Given the description of an element on the screen output the (x, y) to click on. 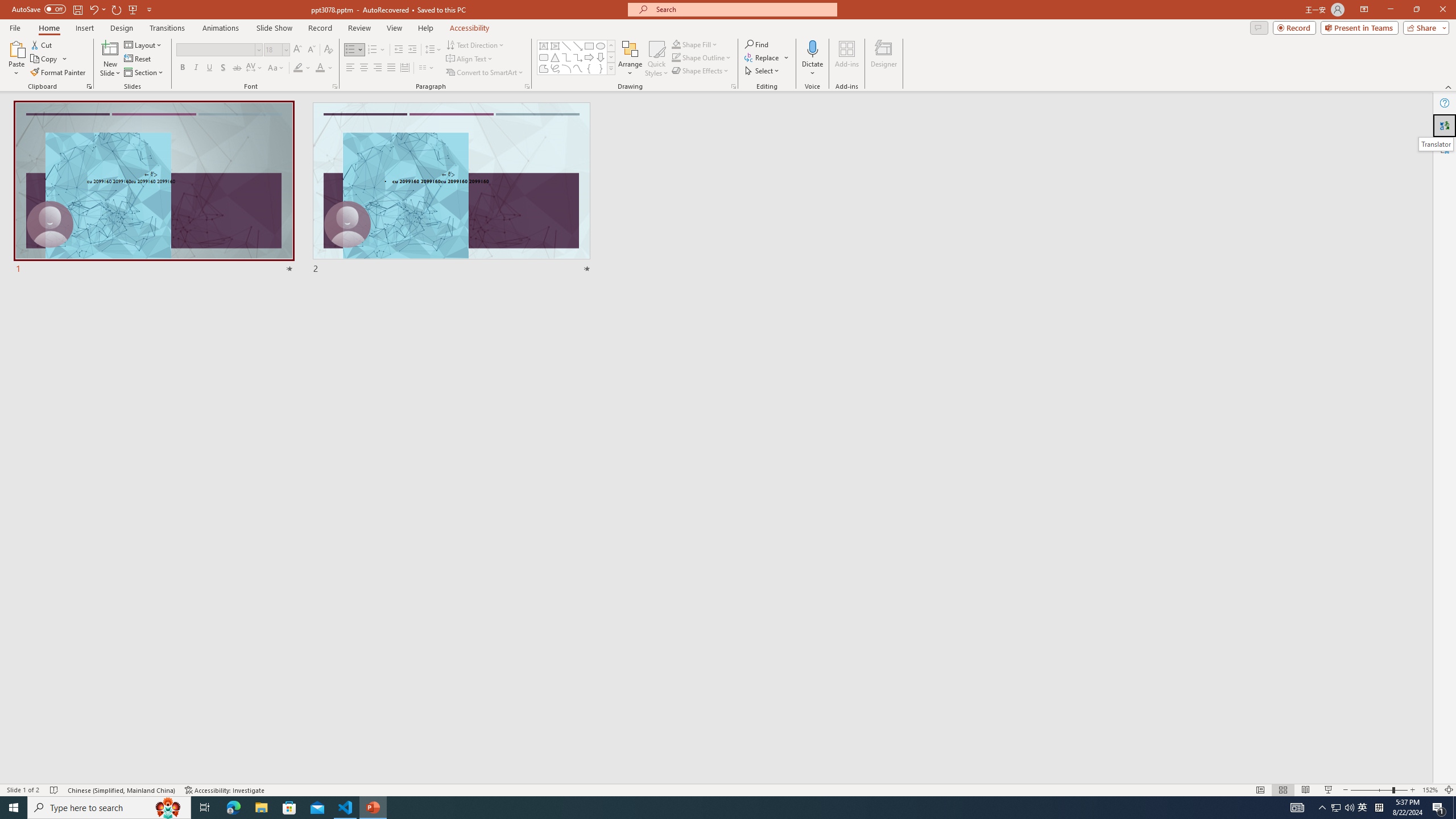
Shape Outline Green, Accent 1 (675, 56)
Transitions (167, 28)
Line Spacing (433, 49)
Decrease Indent (398, 49)
Right Brace (600, 68)
Restore Down (1416, 9)
Character Spacing (254, 67)
Shapes (611, 68)
Columns (426, 67)
Slide Sorter (1282, 790)
Font (219, 49)
Connector: Elbow Arrow (577, 57)
Normal (1260, 790)
